Given the description of an element on the screen output the (x, y) to click on. 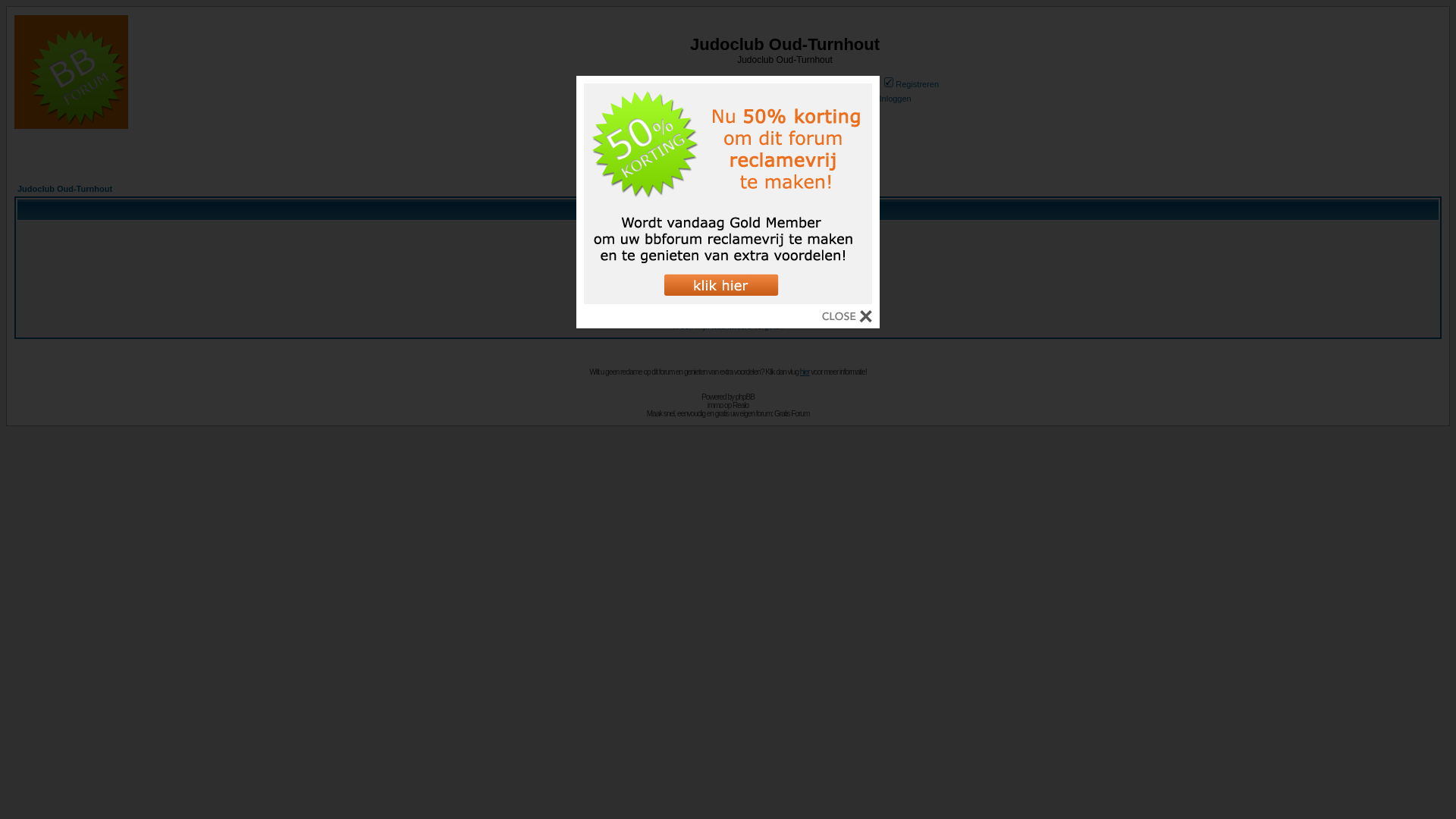
sluiten Element type: hover (847, 318)
Ik ben mijn wachtwoord vergeten Element type: text (727, 326)
Gratis Forum Element type: text (791, 413)
Judoclub Oud-Turnhout Element type: text (64, 188)
Profiel Element type: text (676, 98)
hier Element type: text (804, 371)
Zoeken Element type: text (688, 83)
Inloggen Element type: text (888, 98)
Registreren Element type: text (909, 83)
FAQ Element type: text (645, 83)
Gebruikerslijst Element type: text (749, 83)
phpBB Element type: text (744, 396)
Inloggen Element type: text (727, 309)
Viraal Nieuws Element type: text (727, 161)
Gebruikersgroepen Element type: text (832, 83)
immo op Realo Element type: text (727, 405)
klik voor meer informatie Element type: hover (727, 299)
